Given the description of an element on the screen output the (x, y) to click on. 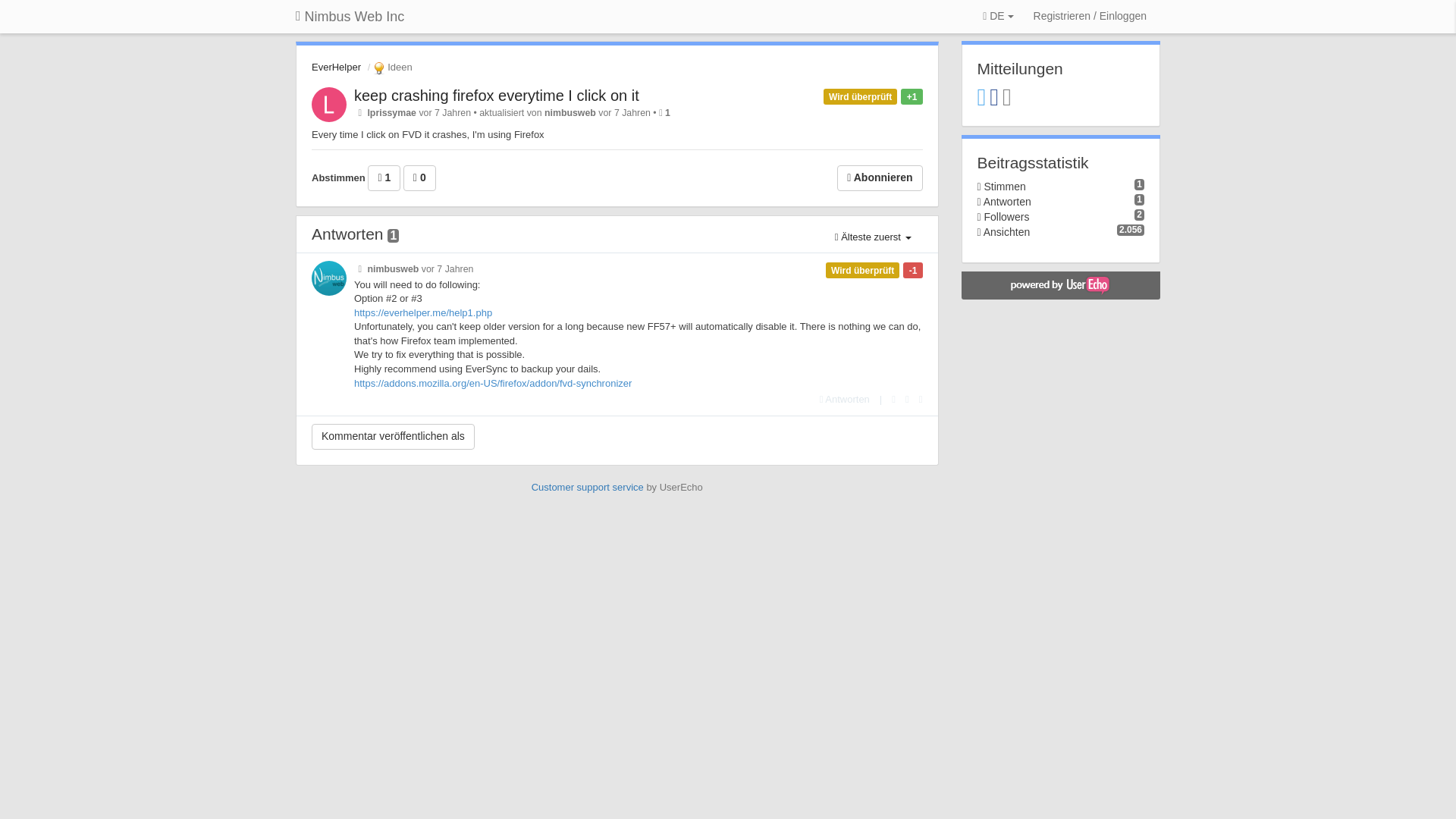
0 (419, 177)
Ideen (390, 66)
keep crashing firefox everytime I click on it (496, 95)
EverHelper (336, 66)
1 (667, 112)
Nimbus Web Inc (348, 16)
DE (997, 16)
Abonnieren (879, 177)
1 (384, 177)
nimbusweb (569, 112)
lprissymae (391, 112)
